Given the description of an element on the screen output the (x, y) to click on. 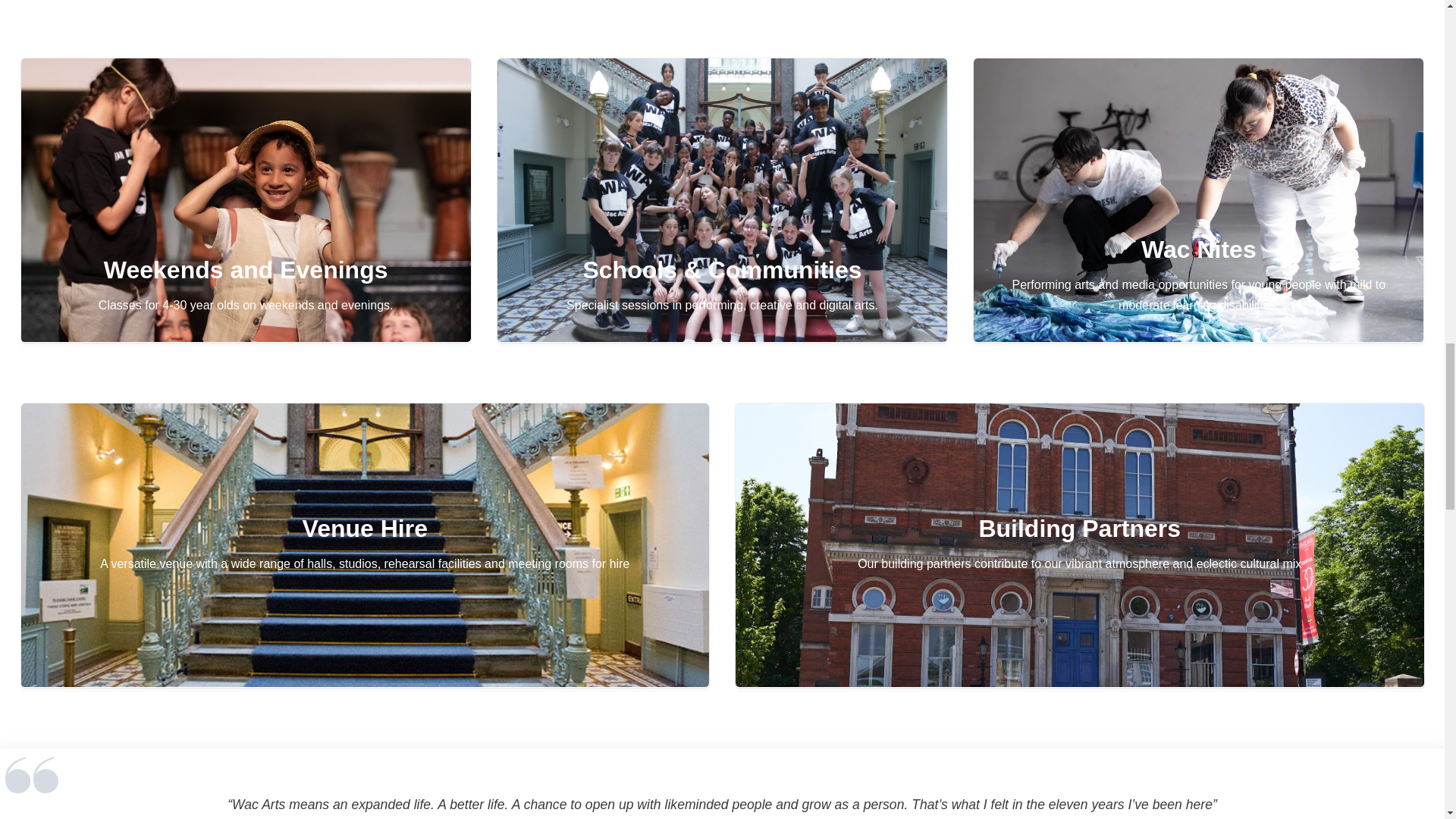
Weekends and Evenings (245, 200)
Wac Nites (1198, 200)
